Given the description of an element on the screen output the (x, y) to click on. 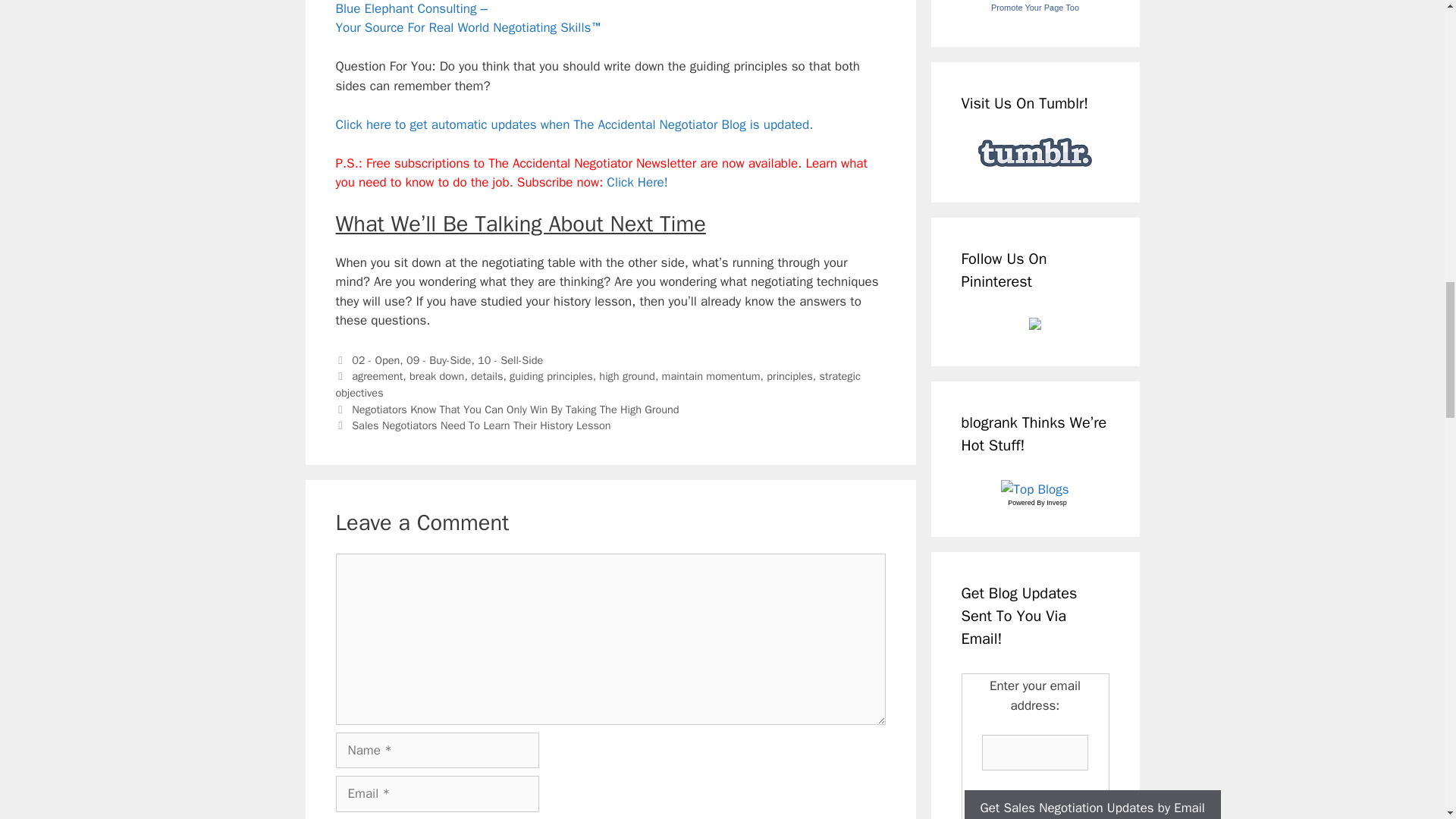
maintain momentum (711, 376)
strategic objectives (597, 384)
agreement (377, 376)
10 - Sell-Side (510, 359)
Sales Negotiators Need To Learn Their History Lesson (481, 425)
break down (436, 376)
details (486, 376)
Make your own badge! (1034, 7)
high ground (626, 376)
